Given the description of an element on the screen output the (x, y) to click on. 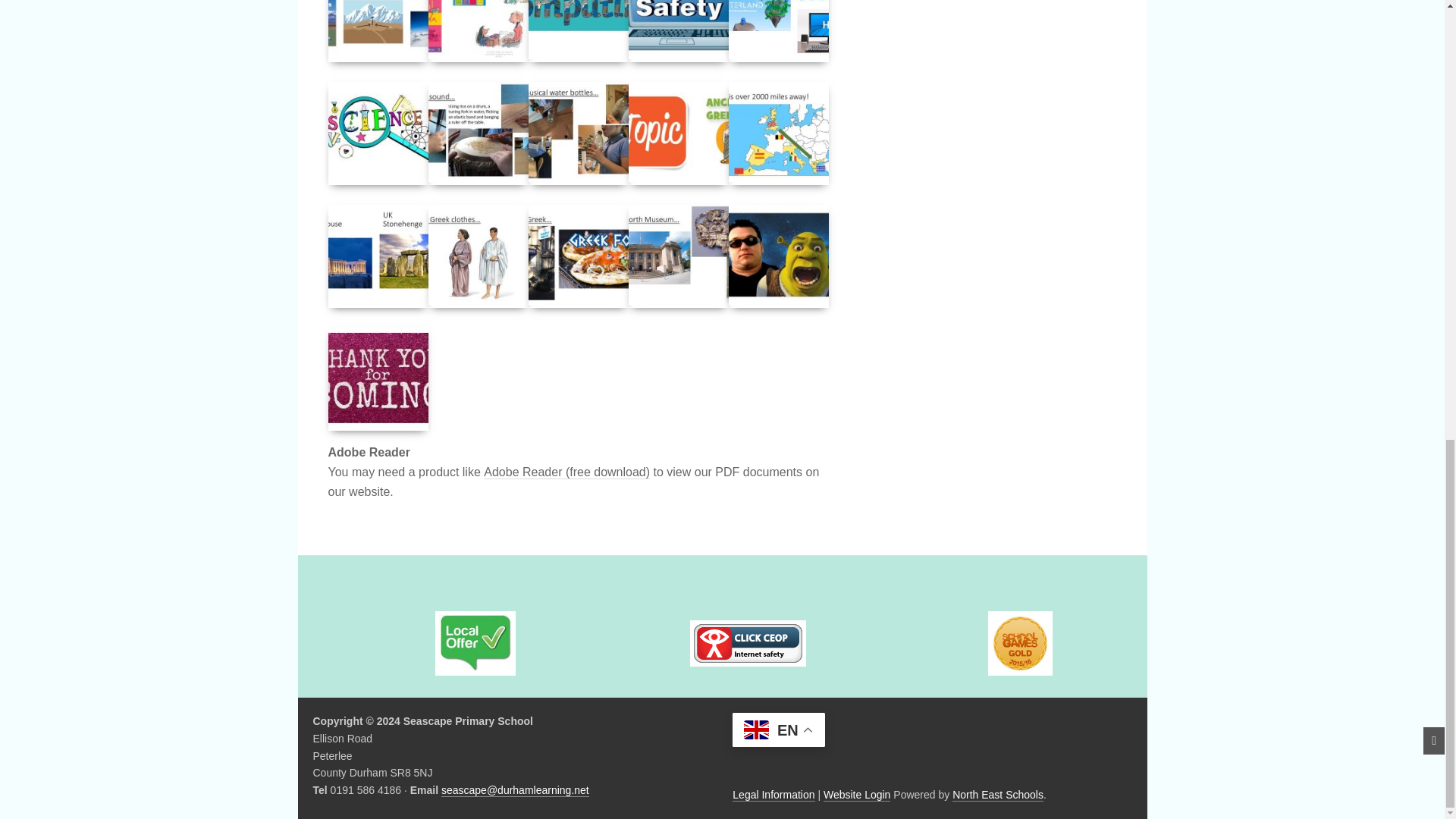
Click CEOP (748, 642)
School Games (1019, 642)
